Given the description of an element on the screen output the (x, y) to click on. 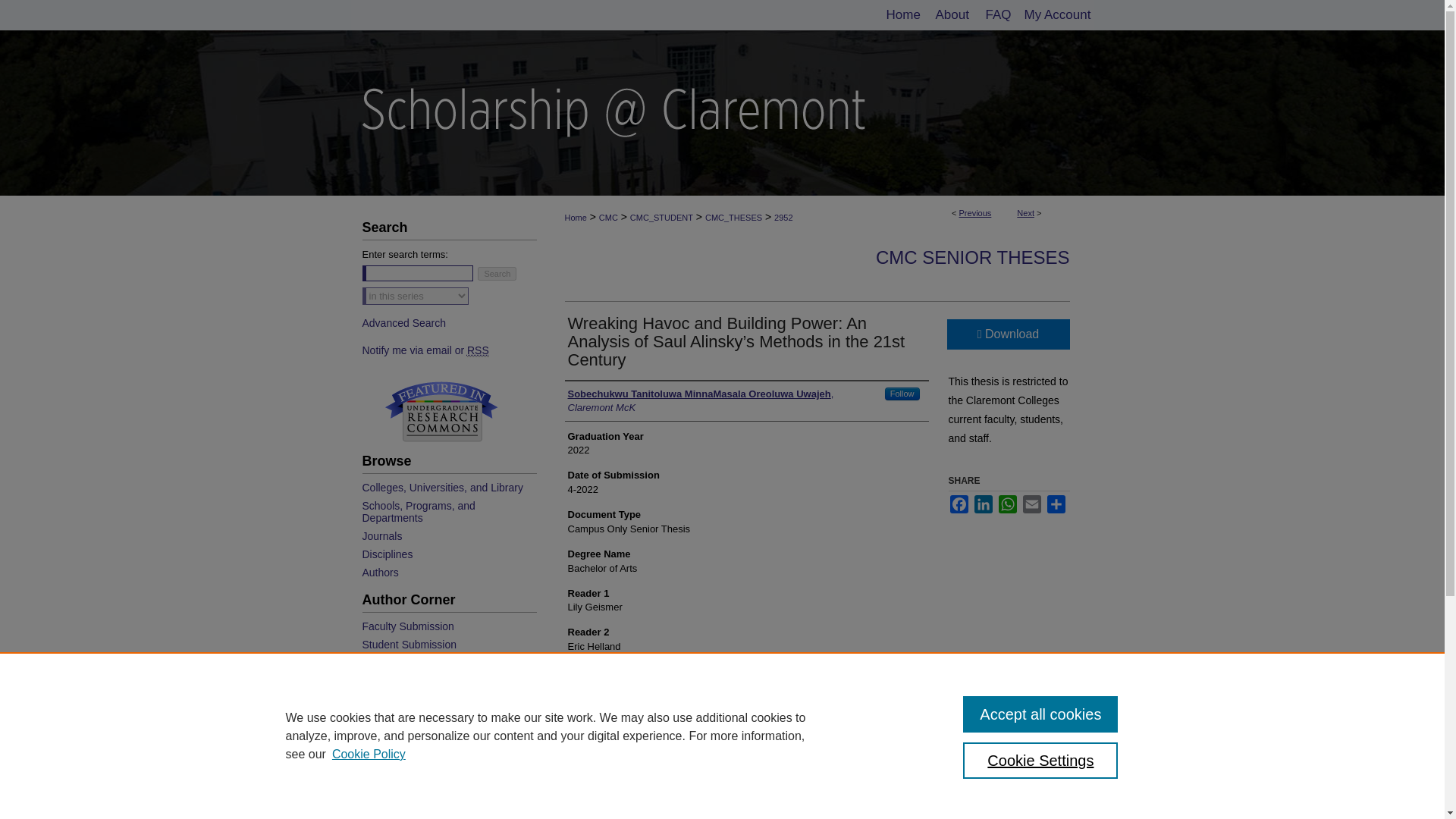
CMC SENIOR THESES (973, 257)
My Account (1053, 15)
Search (496, 273)
Home (901, 15)
WhatsApp (1006, 504)
Next (1024, 212)
Email (1031, 504)
Search (496, 273)
Journals (447, 535)
Home (901, 15)
Home (575, 216)
FAQ (995, 15)
Undergraduate Research Commons (440, 411)
Really Simple Syndication (478, 350)
